Given the description of an element on the screen output the (x, y) to click on. 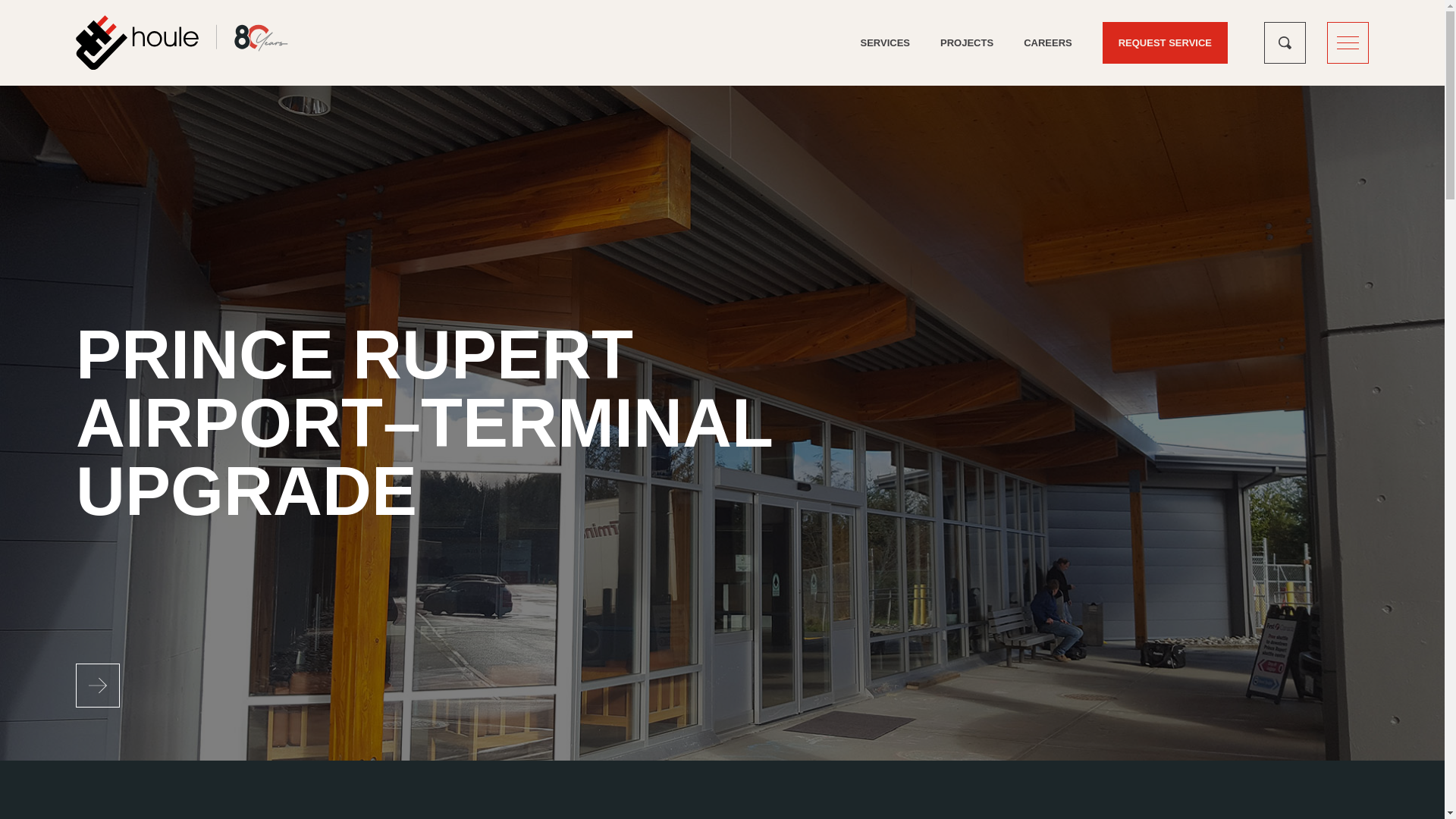
PROJECTS (966, 42)
SERVICES (885, 42)
REQUEST SERVICE (1164, 42)
CAREERS (1048, 42)
